Given the description of an element on the screen output the (x, y) to click on. 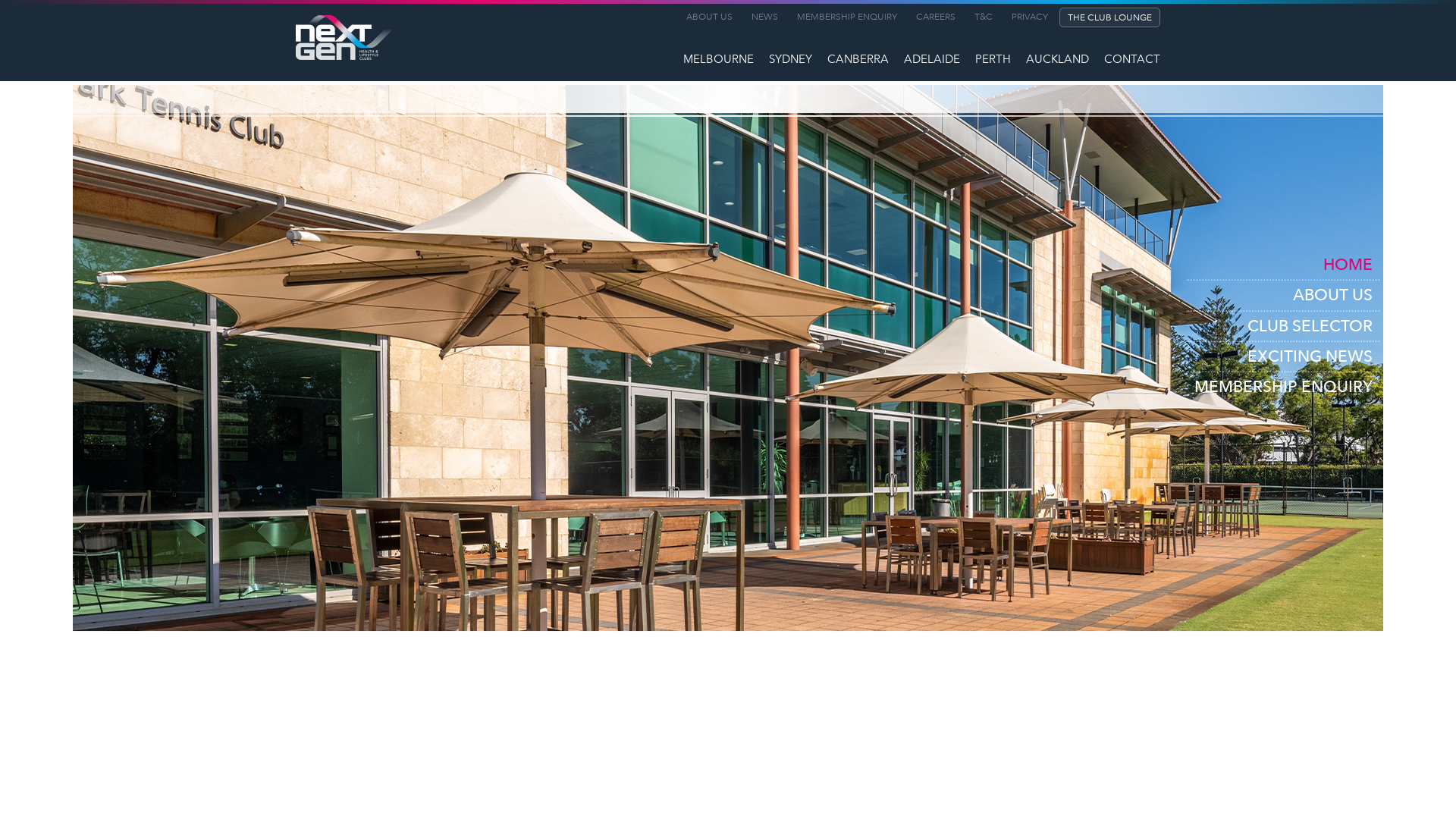
CLUB SELECTOR Element type: text (1283, 325)
ABOUT US Element type: text (1283, 295)
MEMBERSHIP ENQUIRY Element type: text (1283, 386)
CANBERRA Element type: text (857, 60)
ABOUT US Element type: text (705, 17)
ADELAIDE Element type: text (931, 60)
CAREERS Element type: text (931, 17)
T&C Element type: text (979, 17)
MEMBERSHIP ENQUIRY Element type: text (843, 17)
MELBOURNE Element type: text (718, 60)
HOME Element type: text (1283, 265)
CONTACT Element type: text (1132, 60)
THE CLUB LOUNGE Element type: text (1109, 17)
PRIVACY Element type: text (1026, 17)
SYDNEY Element type: text (790, 60)
PERTH Element type: text (992, 60)
EXCITING NEWS Element type: text (1283, 357)
NEWS Element type: text (760, 17)
AUCKLAND Element type: text (1057, 60)
